Given the description of an element on the screen output the (x, y) to click on. 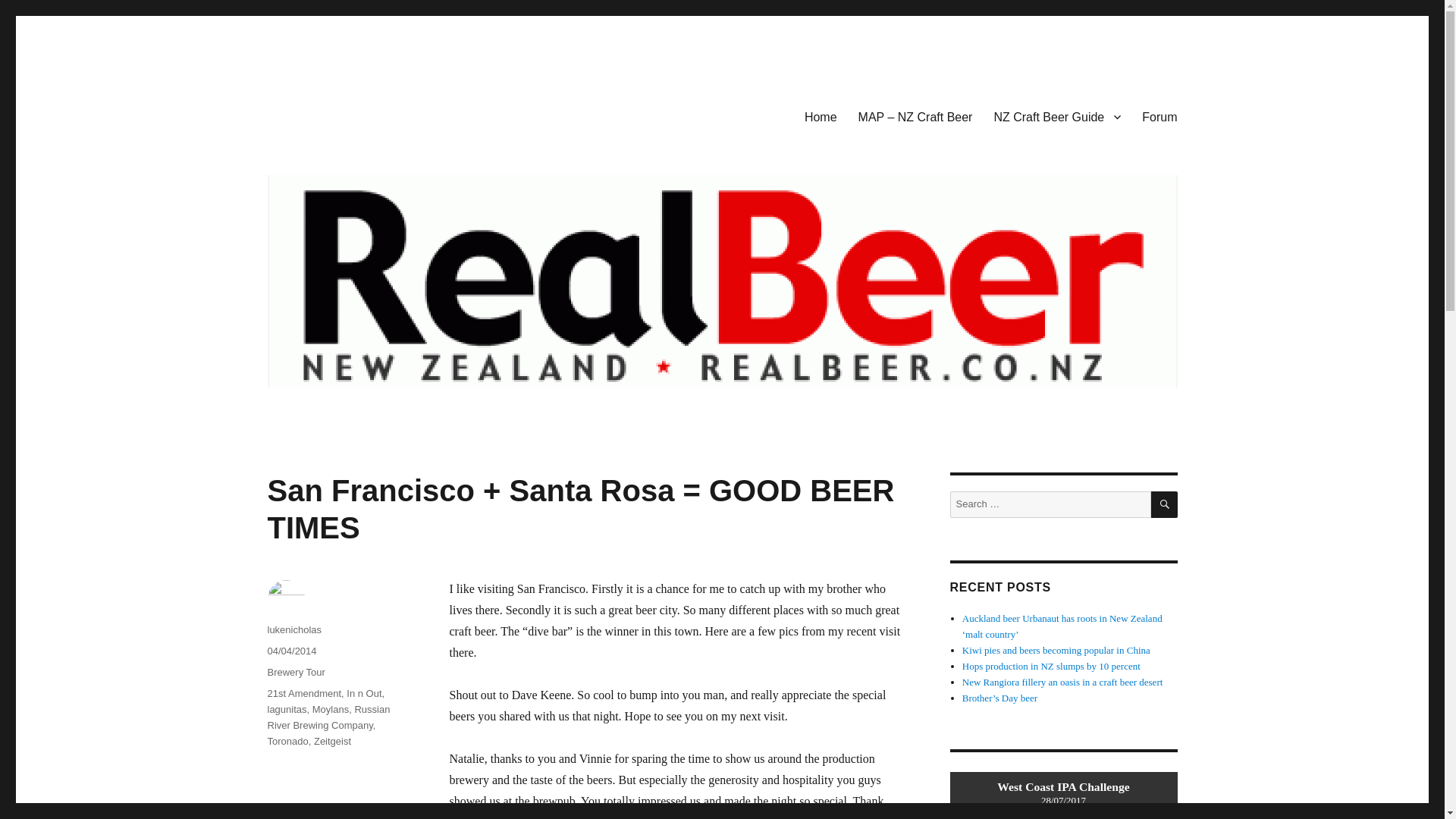
21st Amendment (303, 693)
Hops production in NZ slumps by 10 percent (1051, 665)
lagunitas (285, 708)
Forum (1159, 116)
Moylans (331, 708)
Kiwi pies and beers becoming popular in China (1056, 650)
Toronado (286, 740)
Home (820, 116)
Russian River Brewing Company (328, 717)
lukenicholas (293, 629)
NZ Craft Beer Guide (1056, 116)
Brewery Tour (295, 672)
New Rangiora fillery an oasis in a craft beer desert (1062, 681)
RealBeer.co.nz (341, 114)
SEARCH (1164, 504)
